Given the description of an element on the screen output the (x, y) to click on. 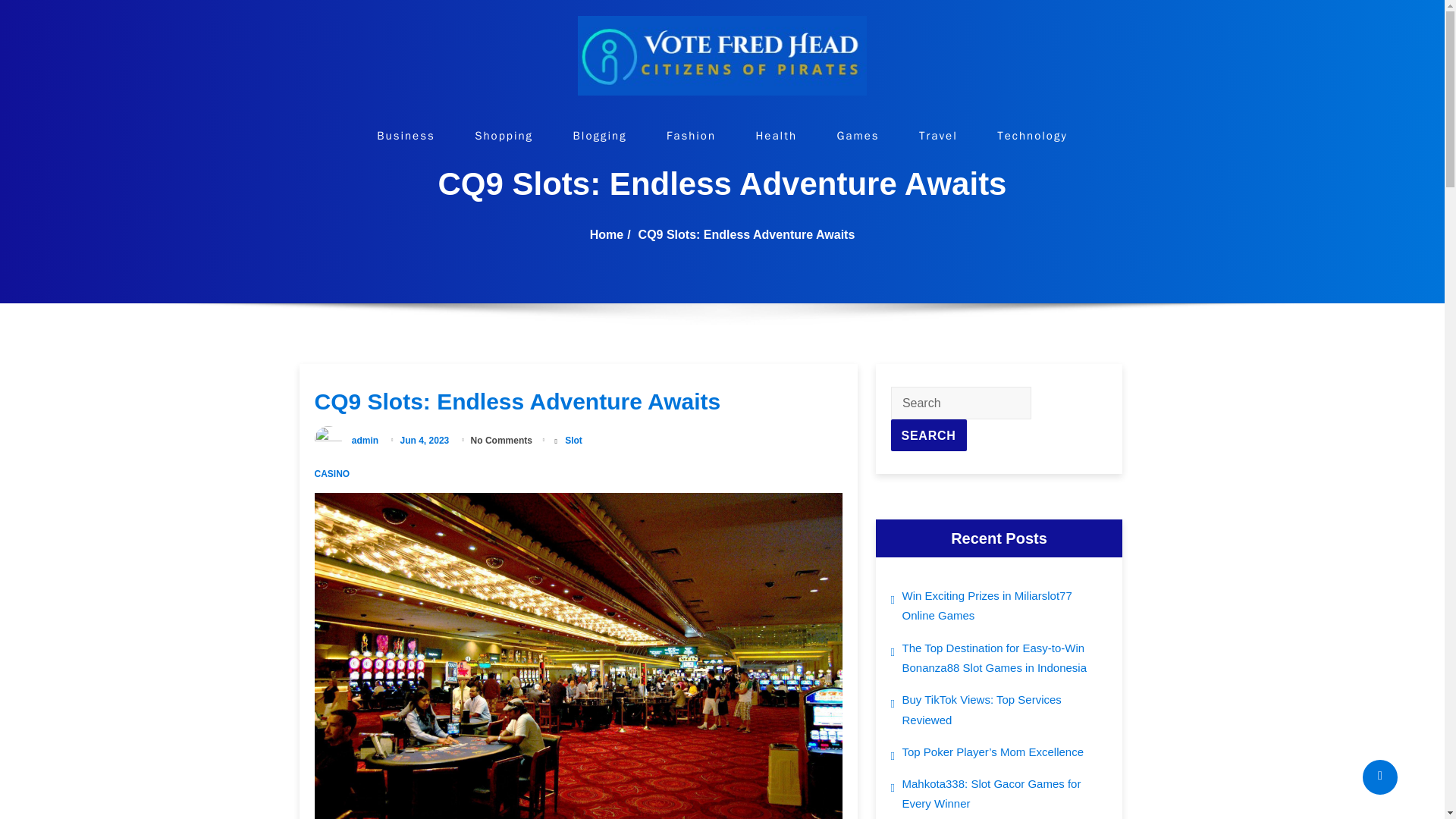
CASINO (331, 473)
Health (775, 135)
Home (606, 234)
Win Exciting Prizes in Miliarslot77 Online Games (1005, 606)
Search (927, 435)
Buy TikTok Views: Top Services Reviewed (1005, 710)
Jun 4, 2023 (425, 439)
Blogging (600, 135)
Travel (938, 135)
Fashion (691, 135)
Technology (1032, 135)
admin (365, 439)
Shopping (503, 135)
Search (927, 435)
Slot (573, 439)
